Given the description of an element on the screen output the (x, y) to click on. 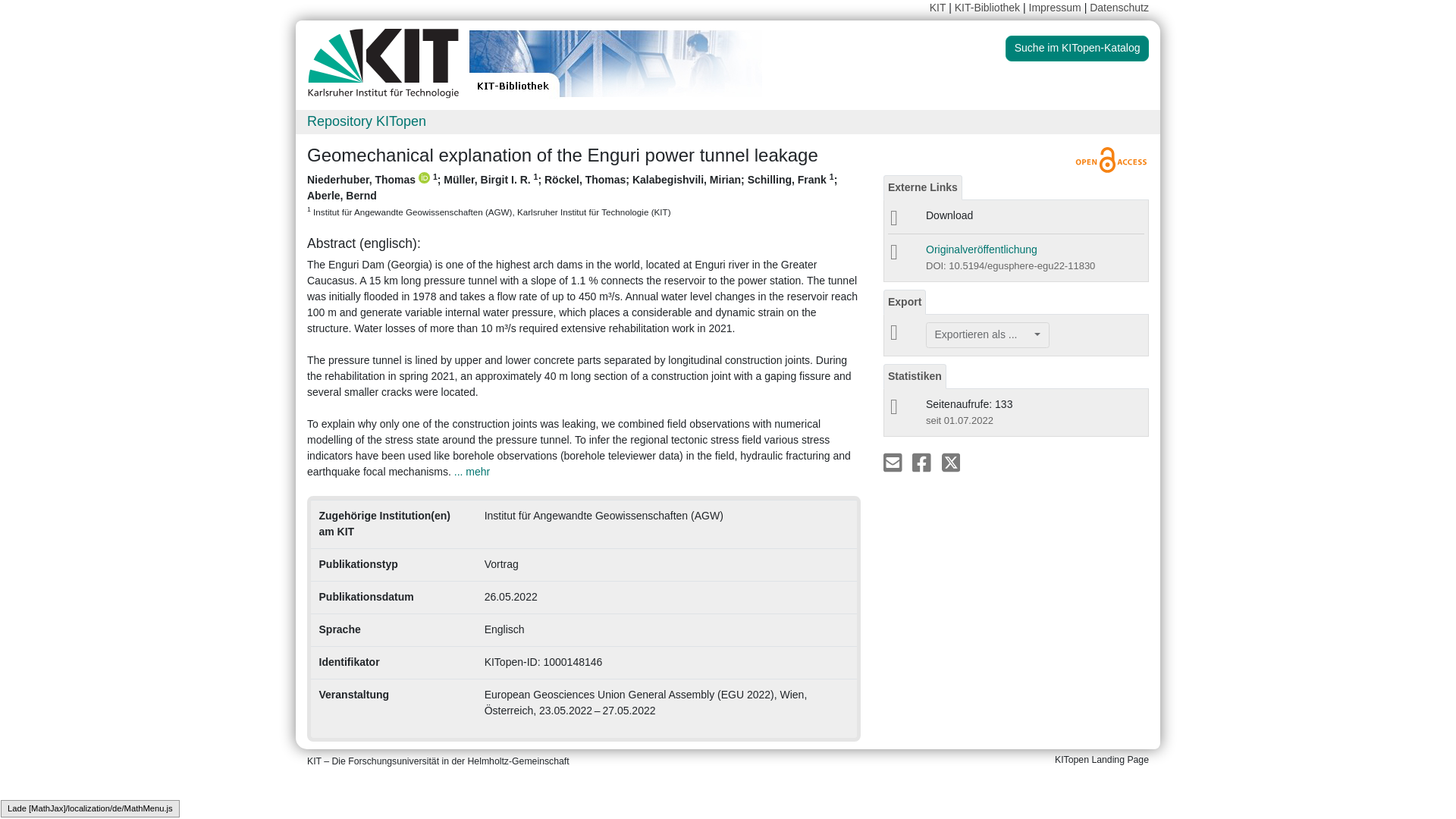
Repository KITopen (366, 120)
Suche im KITopen-Katalog (1077, 48)
Externe Links (922, 187)
Bei Facebook teilen (922, 460)
Export (904, 301)
Bei X teilen (951, 460)
KIT-Bibliothek (989, 7)
Impressum (1055, 7)
KIT (938, 7)
Per E-Mail teilen (893, 460)
Datenschutz (1118, 7)
Exportieren als ...     (987, 335)
Statistiken (914, 376)
